Given the description of an element on the screen output the (x, y) to click on. 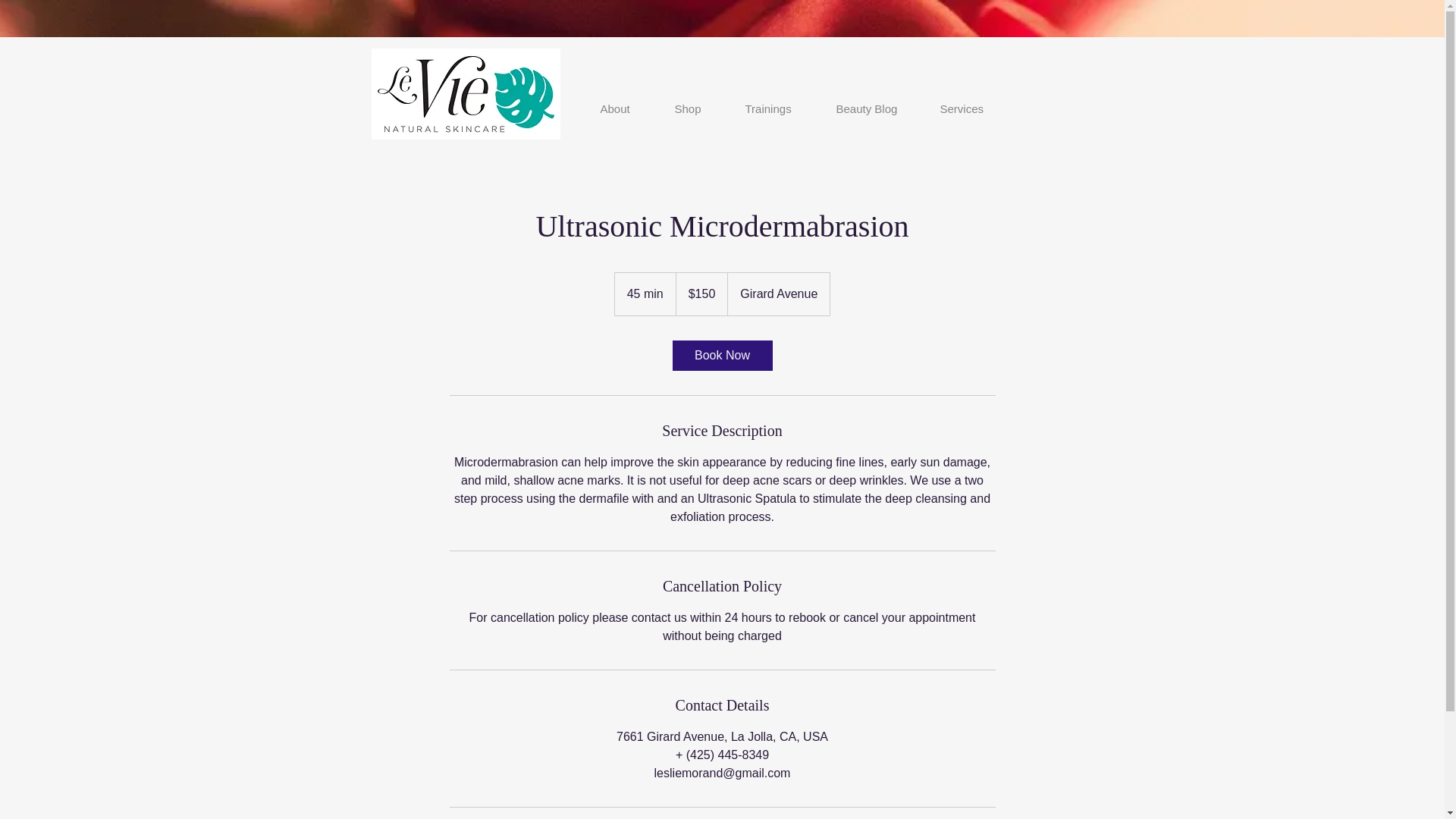
Beauty Blog (876, 108)
Services (971, 108)
Shop (697, 108)
Book Now (721, 355)
About (625, 108)
Trainings (779, 108)
